Given the description of an element on the screen output the (x, y) to click on. 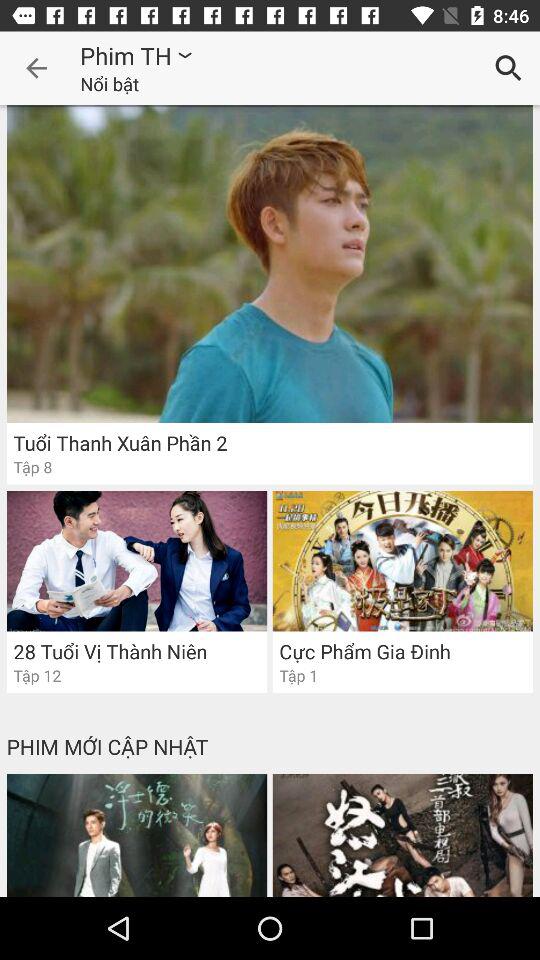
open the item next to the phim th icon (36, 68)
